Given the description of an element on the screen output the (x, y) to click on. 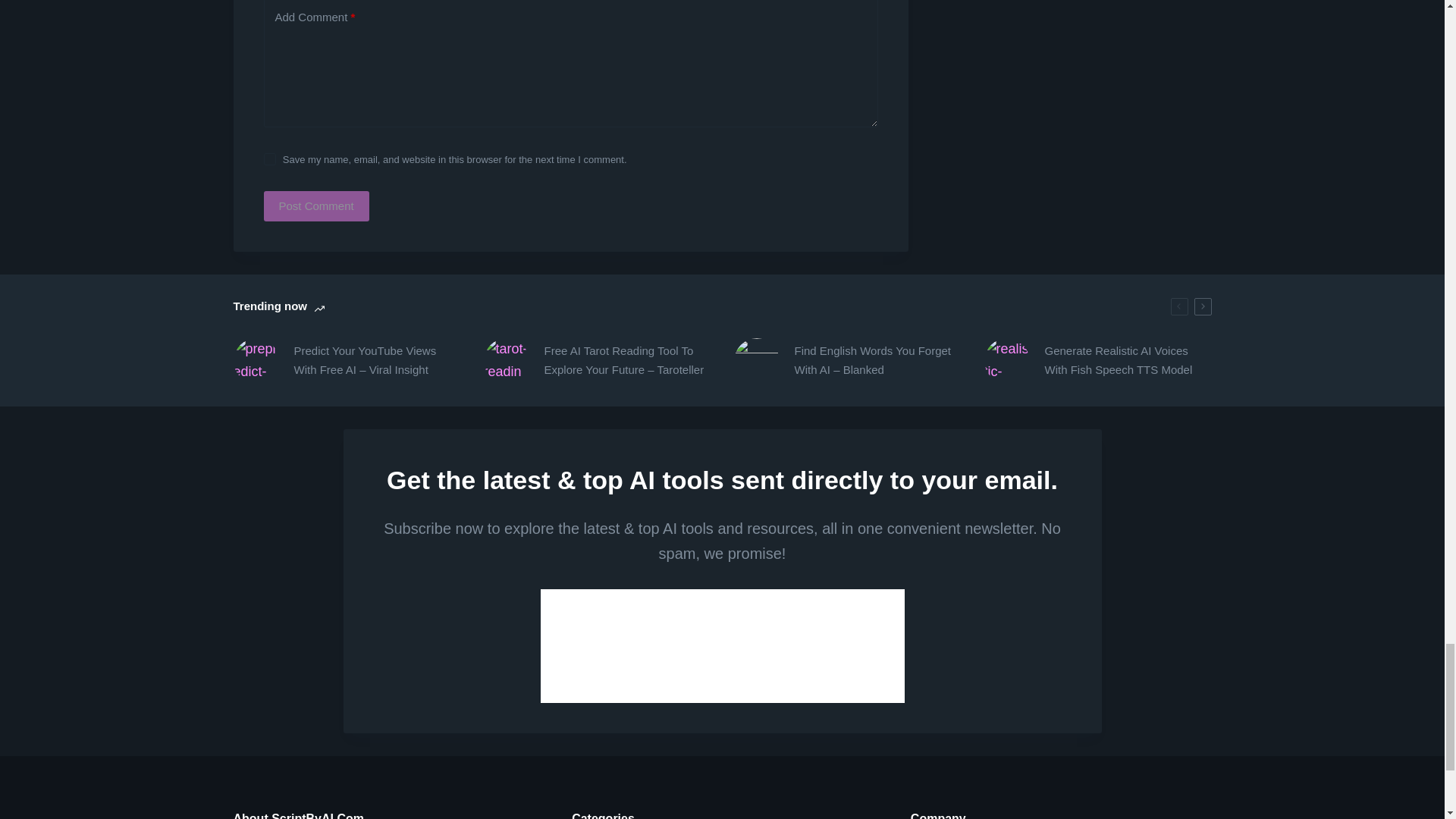
yes (269, 159)
